Given the description of an element on the screen output the (x, y) to click on. 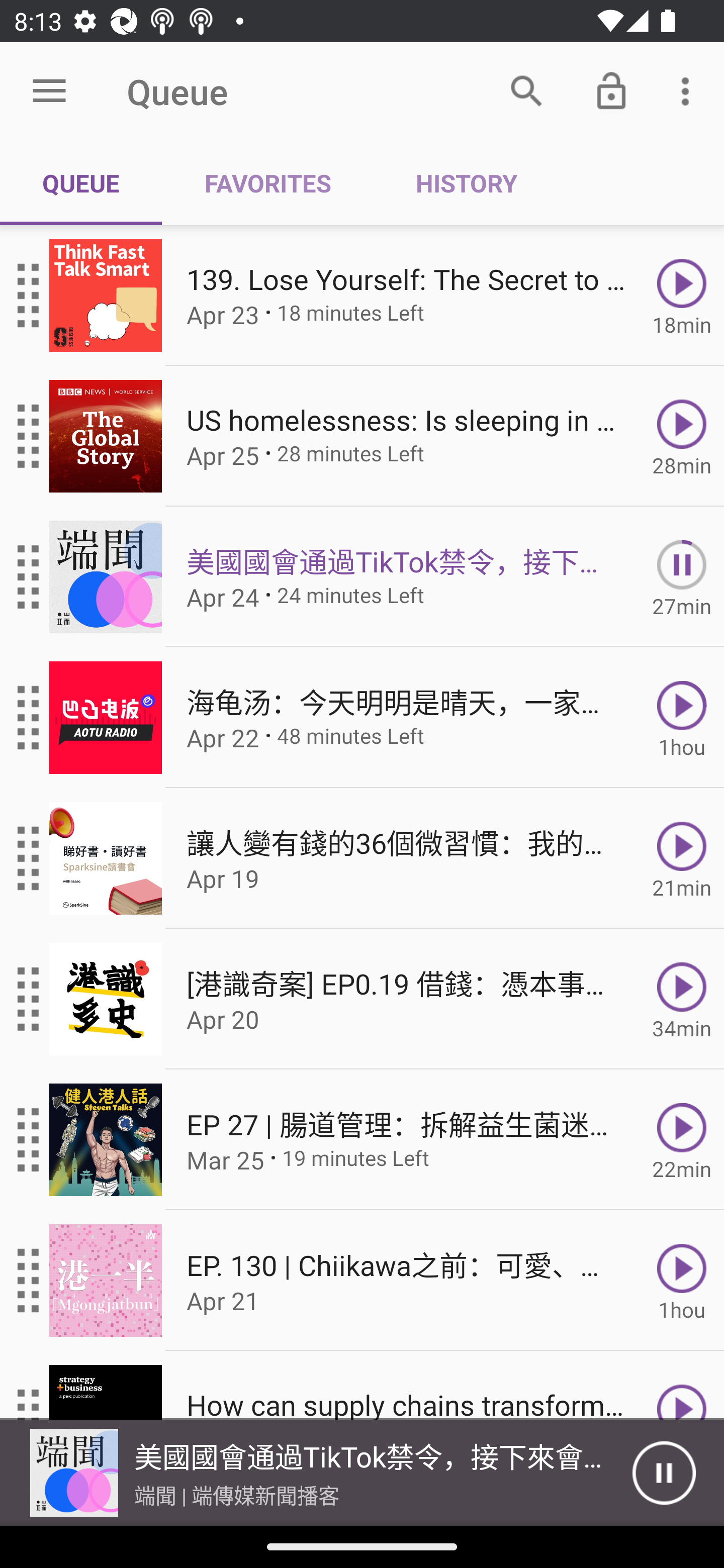
Open menu (49, 91)
Search (526, 90)
Lock Queue (611, 90)
More options (688, 90)
QUEUE (81, 183)
FAVORITES (267, 183)
HISTORY (465, 183)
Play 18min (681, 295)
Play 28min (681, 435)
Play 27min (681, 576)
Play 1hou (681, 717)
Play 21min (681, 858)
Play 34min (681, 998)
Play 22min (681, 1139)
Play 1hou (681, 1280)
Play (681, 1385)
Picture 美國國會通過TikTok禁令，接下來會發生什麼？ 端聞 | 端傳媒新聞播客 (316, 1472)
Pause (663, 1472)
